Given the description of an element on the screen output the (x, y) to click on. 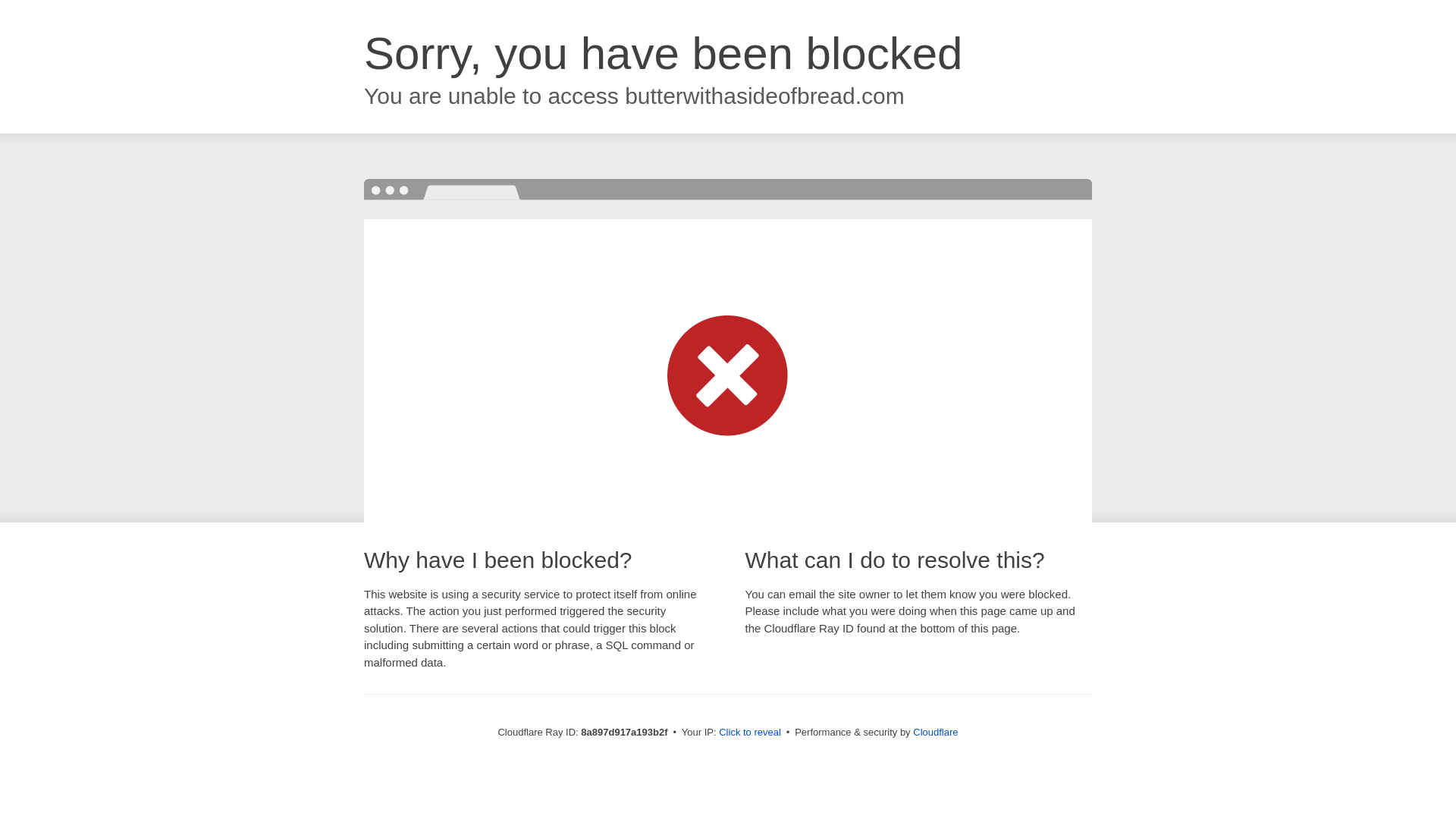
Click to reveal (749, 732)
Cloudflare (935, 731)
